Given the description of an element on the screen output the (x, y) to click on. 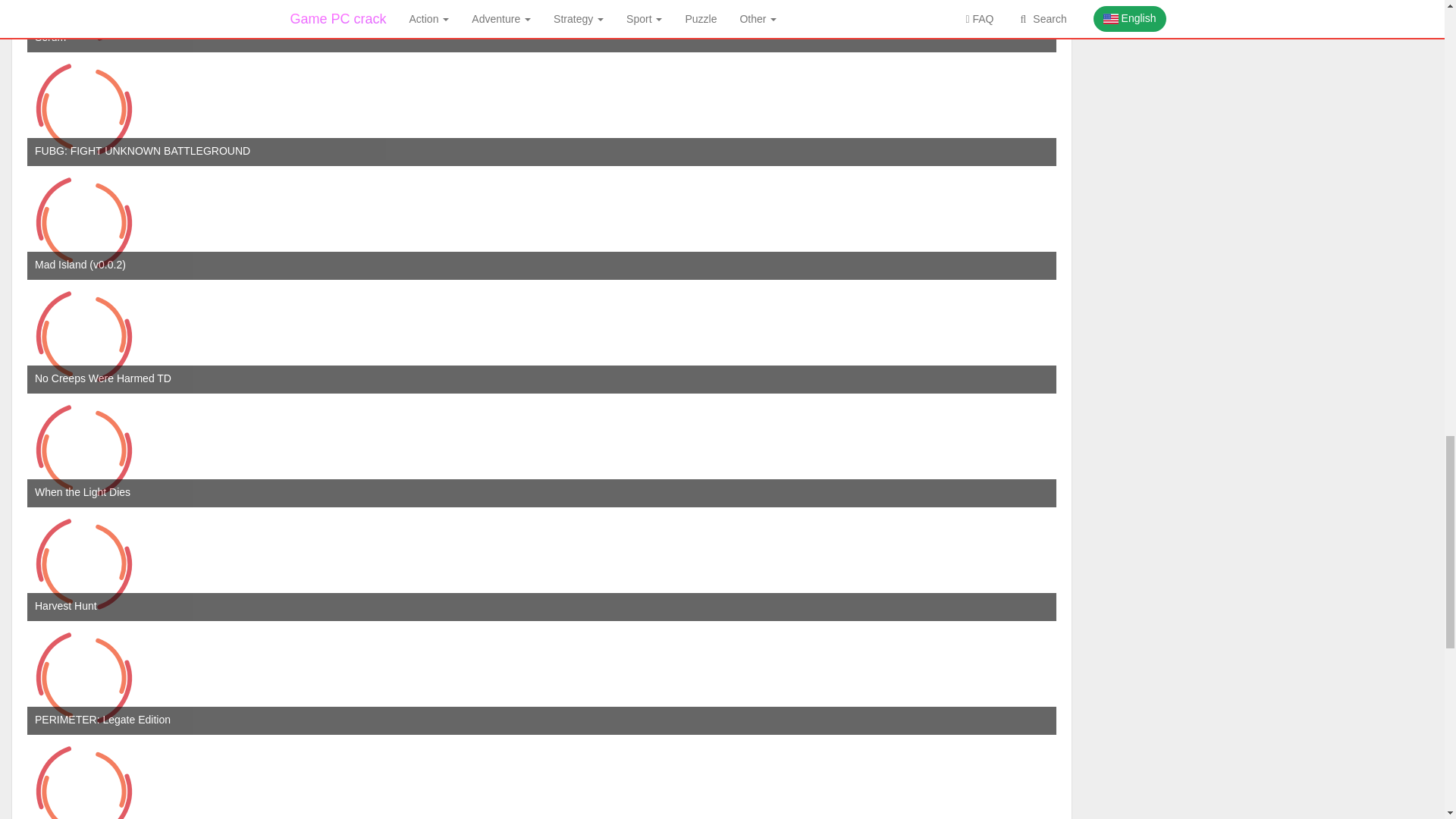
Harvest Hunt (84, 563)
No Creeps Were Harmed TD (84, 336)
FUBG: FIGHT UNKNOWN BATTLEGROUND (84, 109)
When the Light Dies (84, 449)
Serum (84, 26)
PERIMETER: Legate Edition (84, 677)
